Given the description of an element on the screen output the (x, y) to click on. 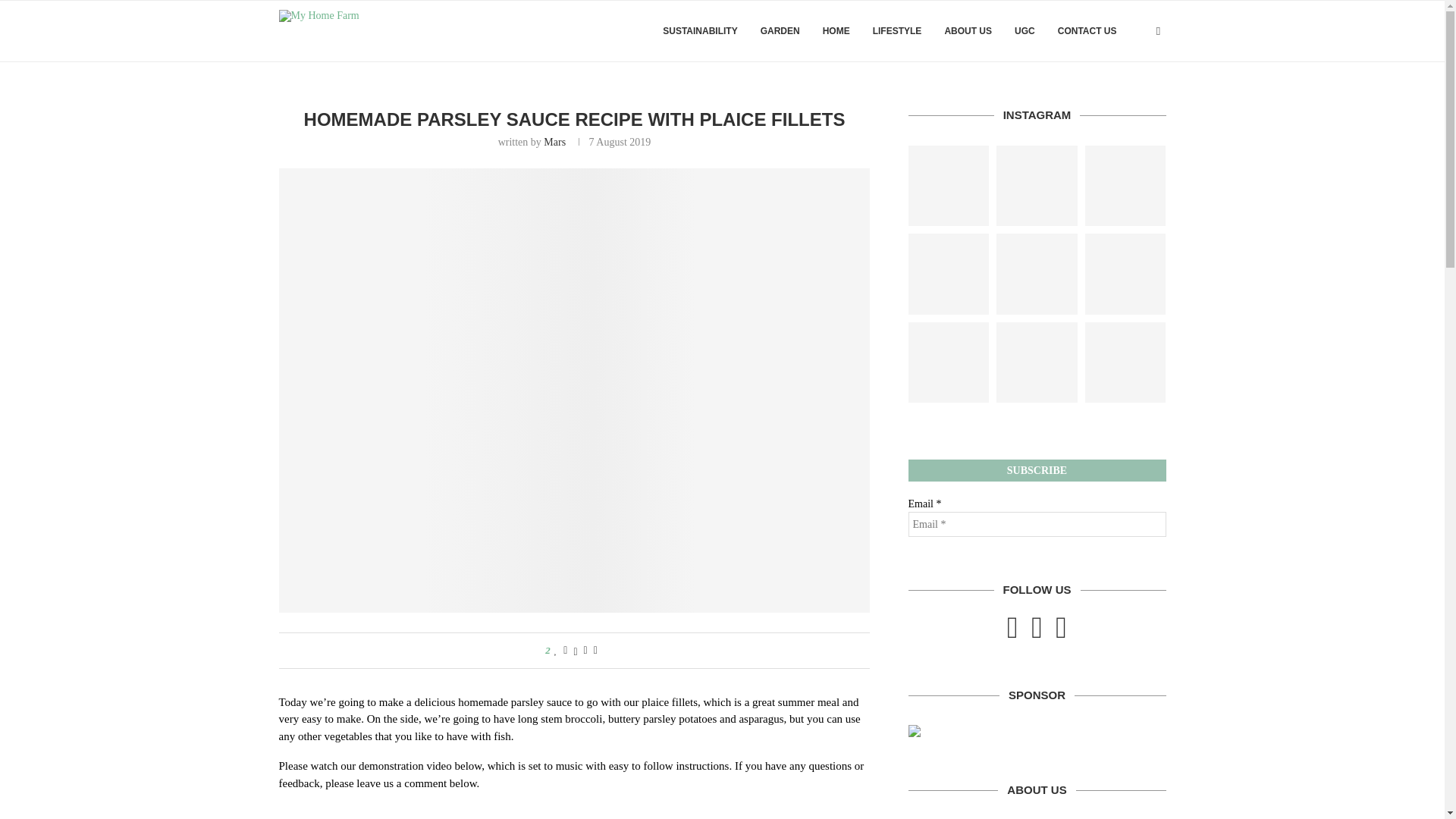
CONTACT US (1087, 30)
SUBSCRIBE (1037, 470)
SUSTAINABILITY (699, 30)
Mars (554, 142)
